Given the description of an element on the screen output the (x, y) to click on. 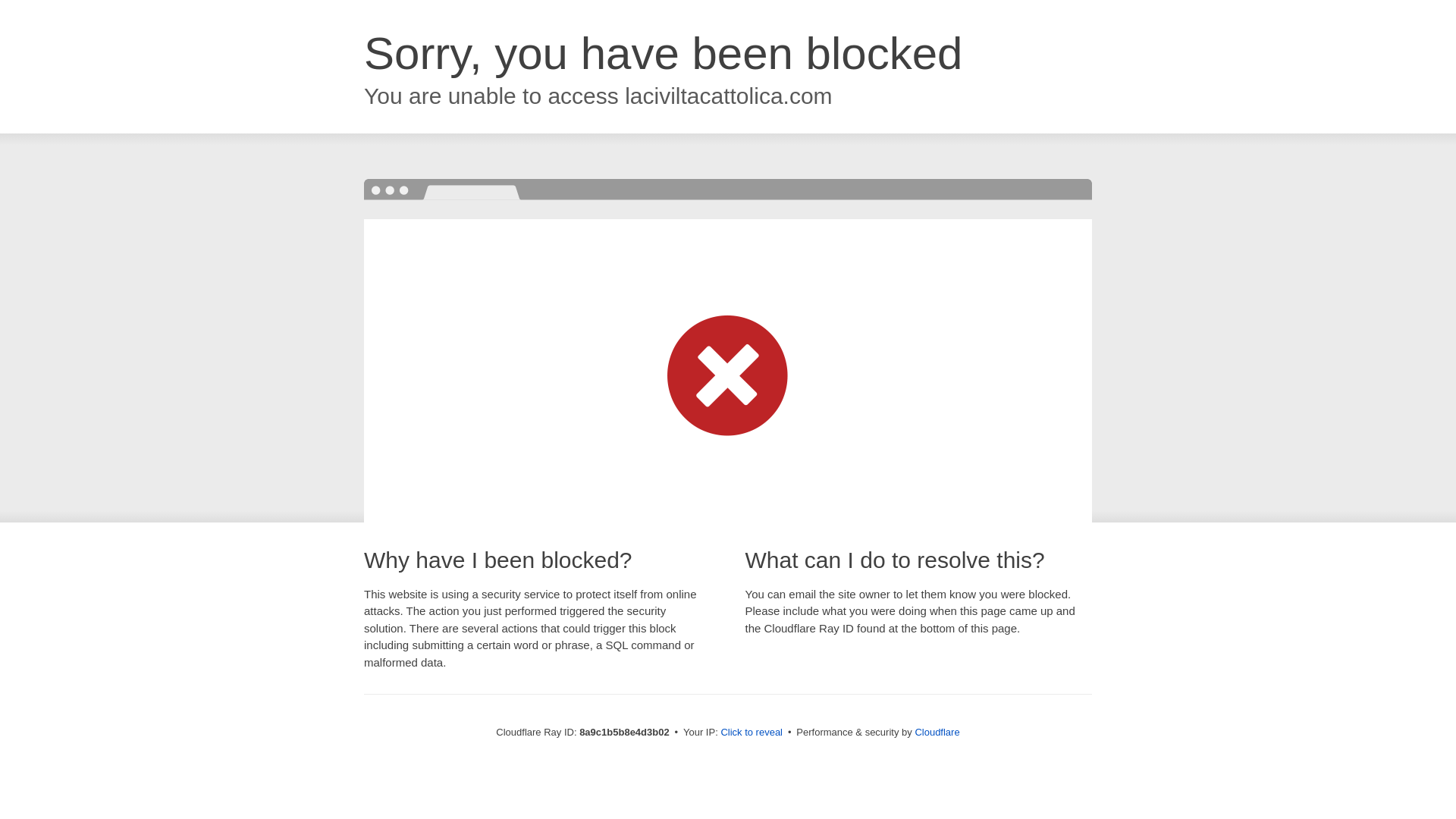
Click to reveal (751, 732)
Cloudflare (936, 731)
